Given the description of an element on the screen output the (x, y) to click on. 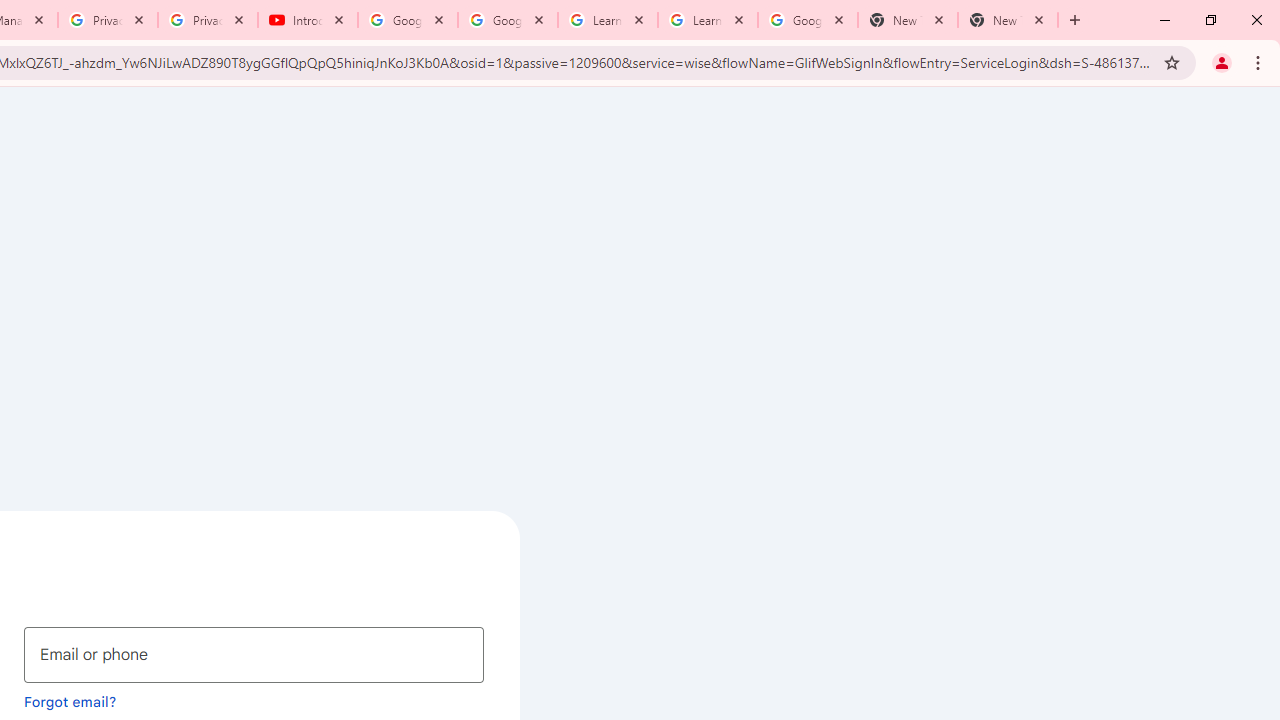
New Tab (1007, 20)
Google Account (807, 20)
Email or phone (253, 654)
New Tab (907, 20)
Google Account Help (508, 20)
Forgot email? (70, 701)
Google Account Help (408, 20)
